Given the description of an element on the screen output the (x, y) to click on. 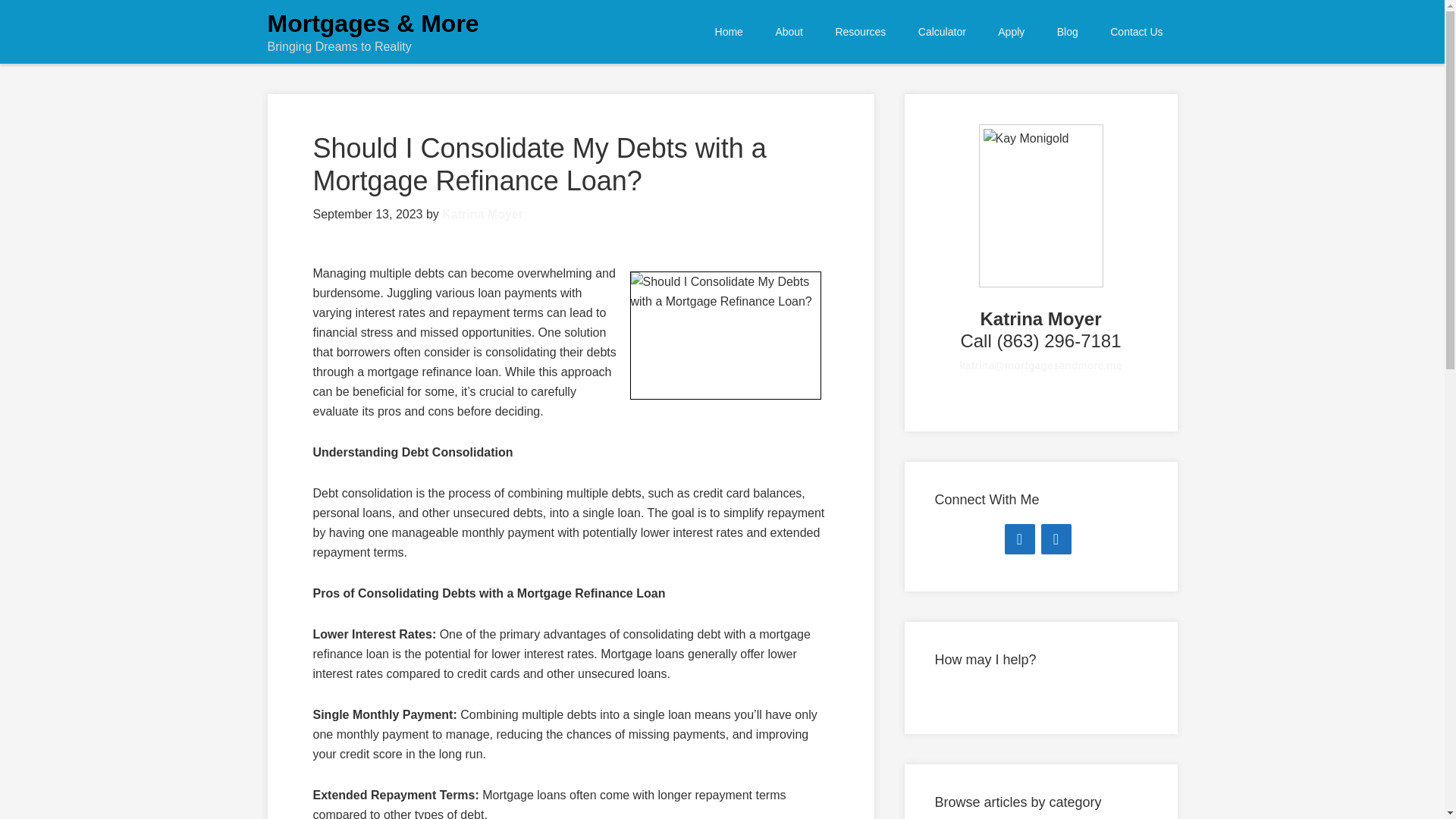
Home (728, 31)
Calculator (941, 31)
About (788, 31)
Apply (1011, 31)
Katrina Moyer (482, 214)
Contact Us (1136, 31)
Blog (1067, 31)
Resources (860, 31)
